Given the description of an element on the screen output the (x, y) to click on. 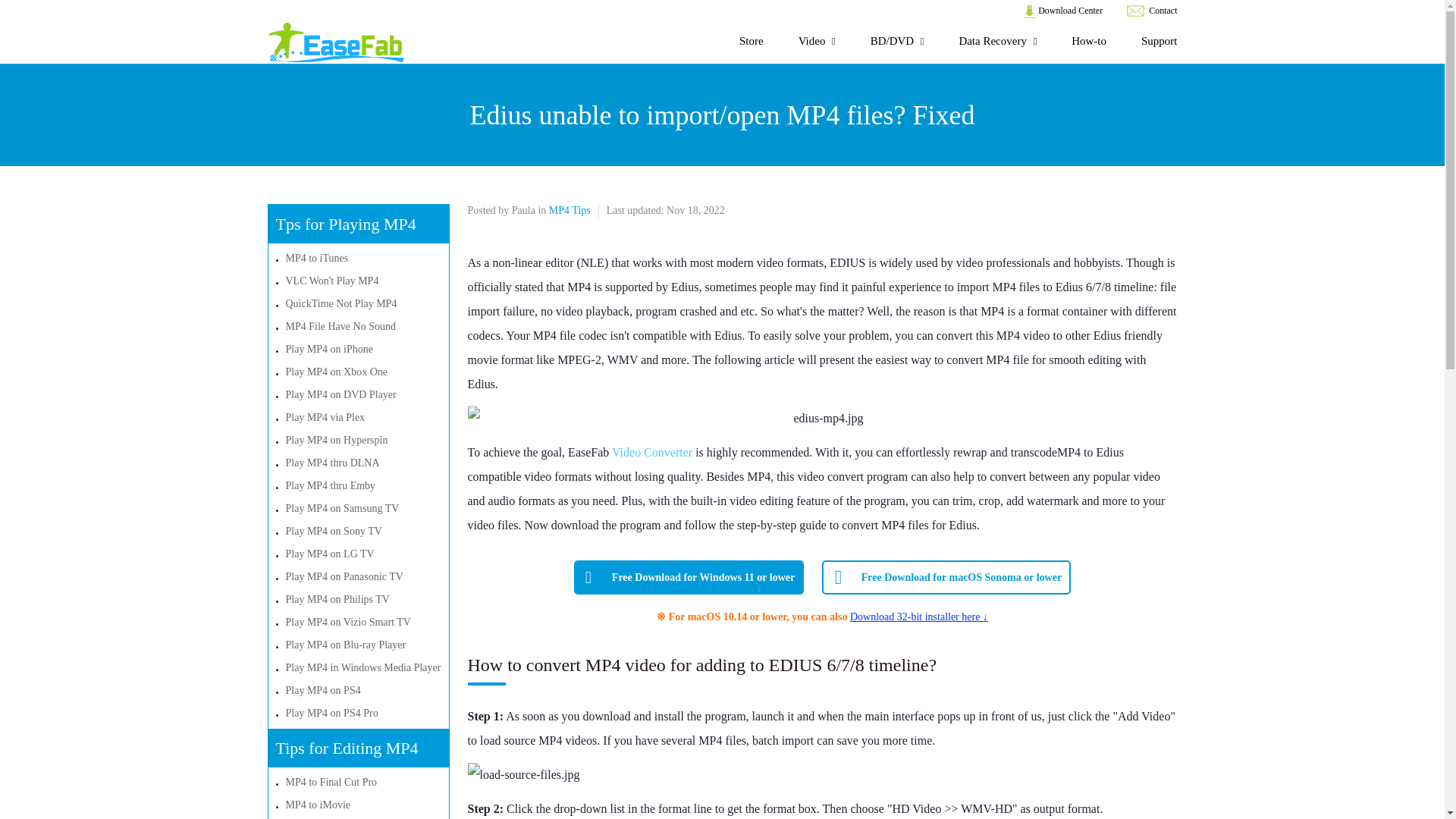
How-to (1088, 41)
Store (750, 41)
Play MP4 on iPhone (328, 348)
Support (1159, 41)
Play MP4 in Windows Media Player (363, 667)
Play MP4 via Plex (325, 417)
Play MP4 on Philips TV (336, 599)
Play MP4 thru DLNA (331, 462)
Play MP4 on Hyperspin (336, 439)
VLC Won't Play MP4 (331, 280)
